Given the description of an element on the screen output the (x, y) to click on. 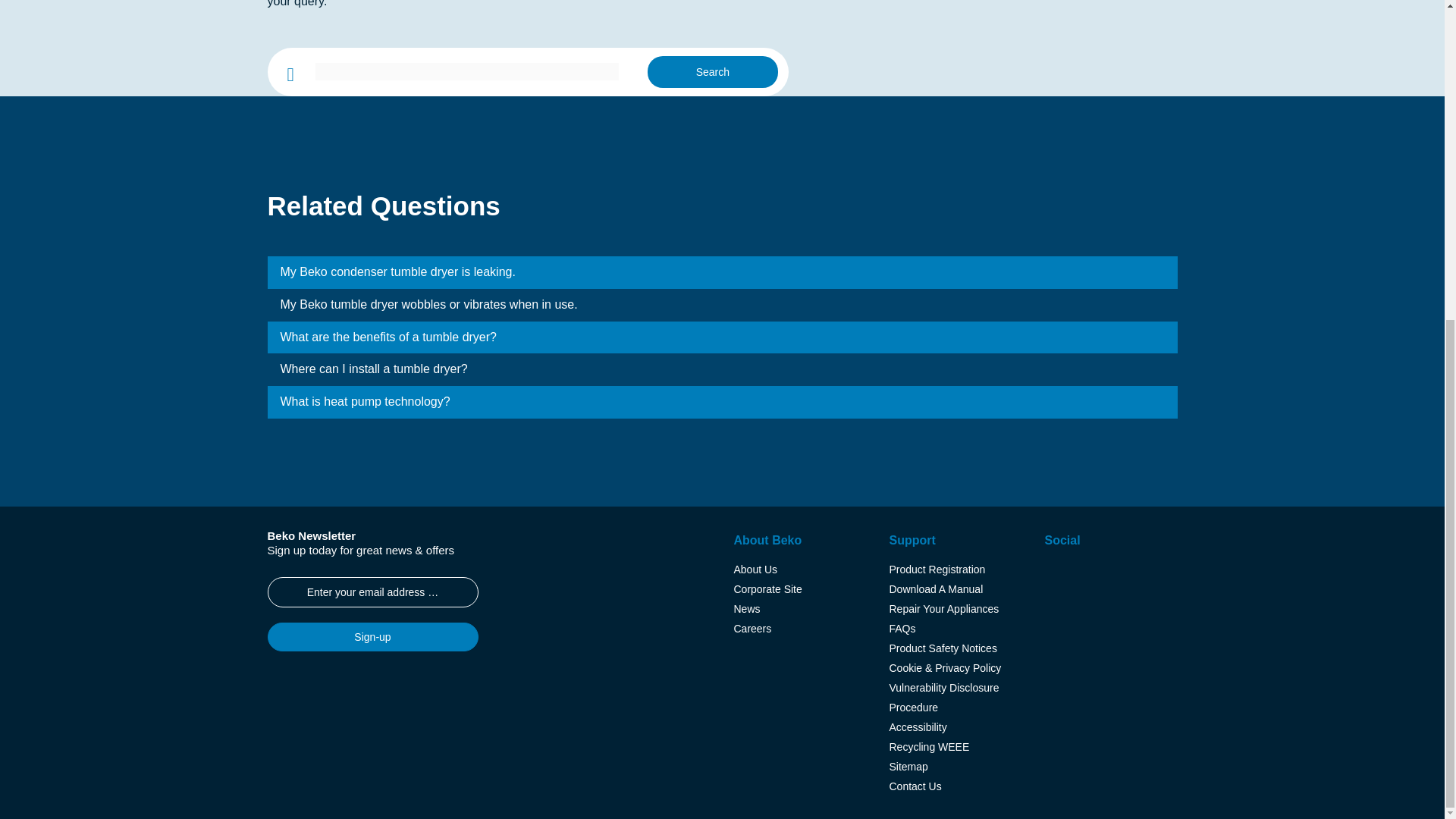
BekoUK on Pinterest (1132, 573)
BekoUK on Instagram (1055, 573)
BekoUK on YouTube (1106, 573)
BekoUK on Facebook (1081, 573)
